Given the description of an element on the screen output the (x, y) to click on. 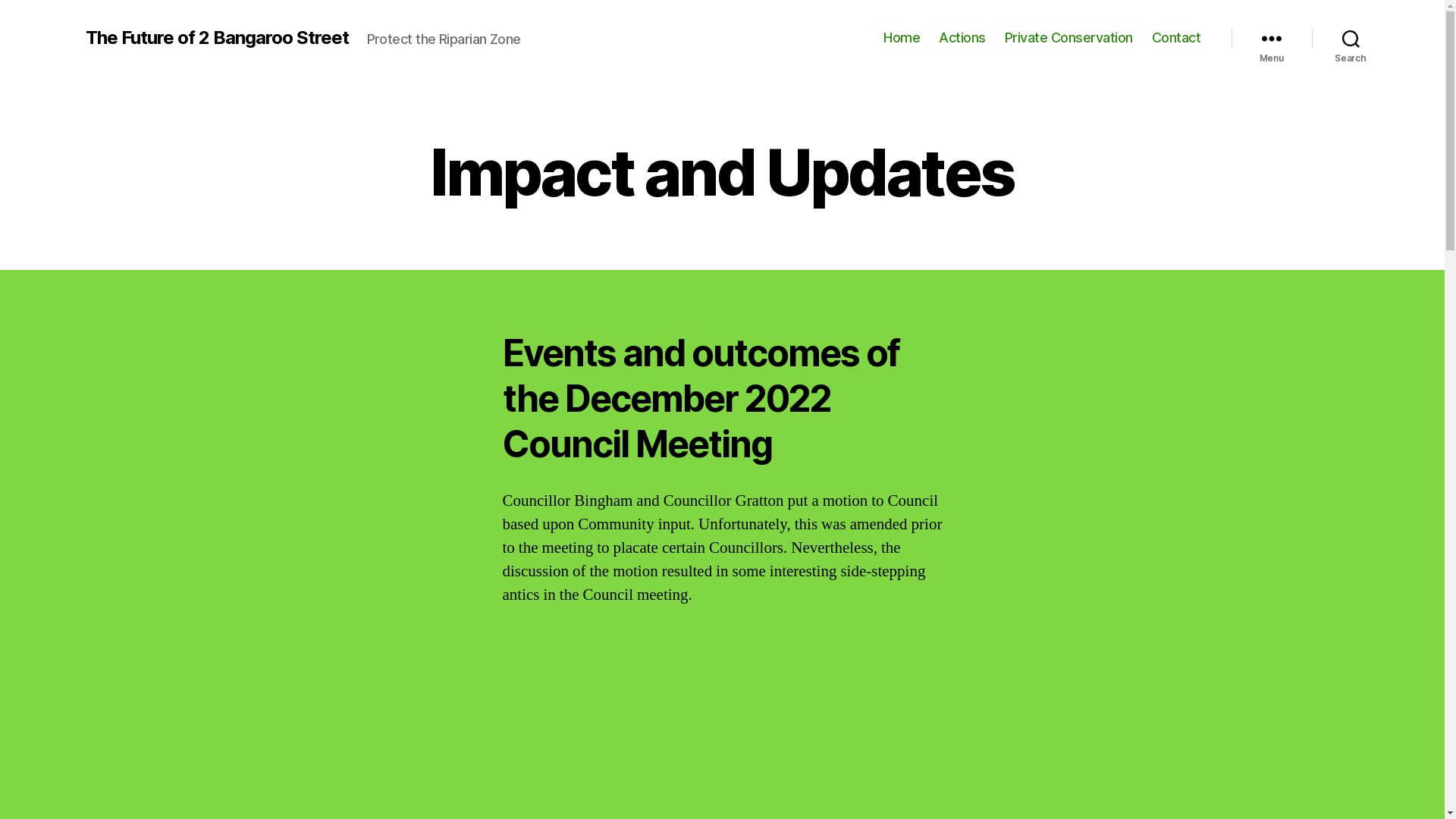
The Future of 2 Bangaroo Street Element type: text (216, 37)
Search Element type: text (1350, 37)
Home Element type: text (901, 37)
Private Conservation Element type: text (1068, 37)
Contact Element type: text (1176, 37)
Menu Element type: text (1271, 37)
Actions Element type: text (961, 37)
